Given the description of an element on the screen output the (x, y) to click on. 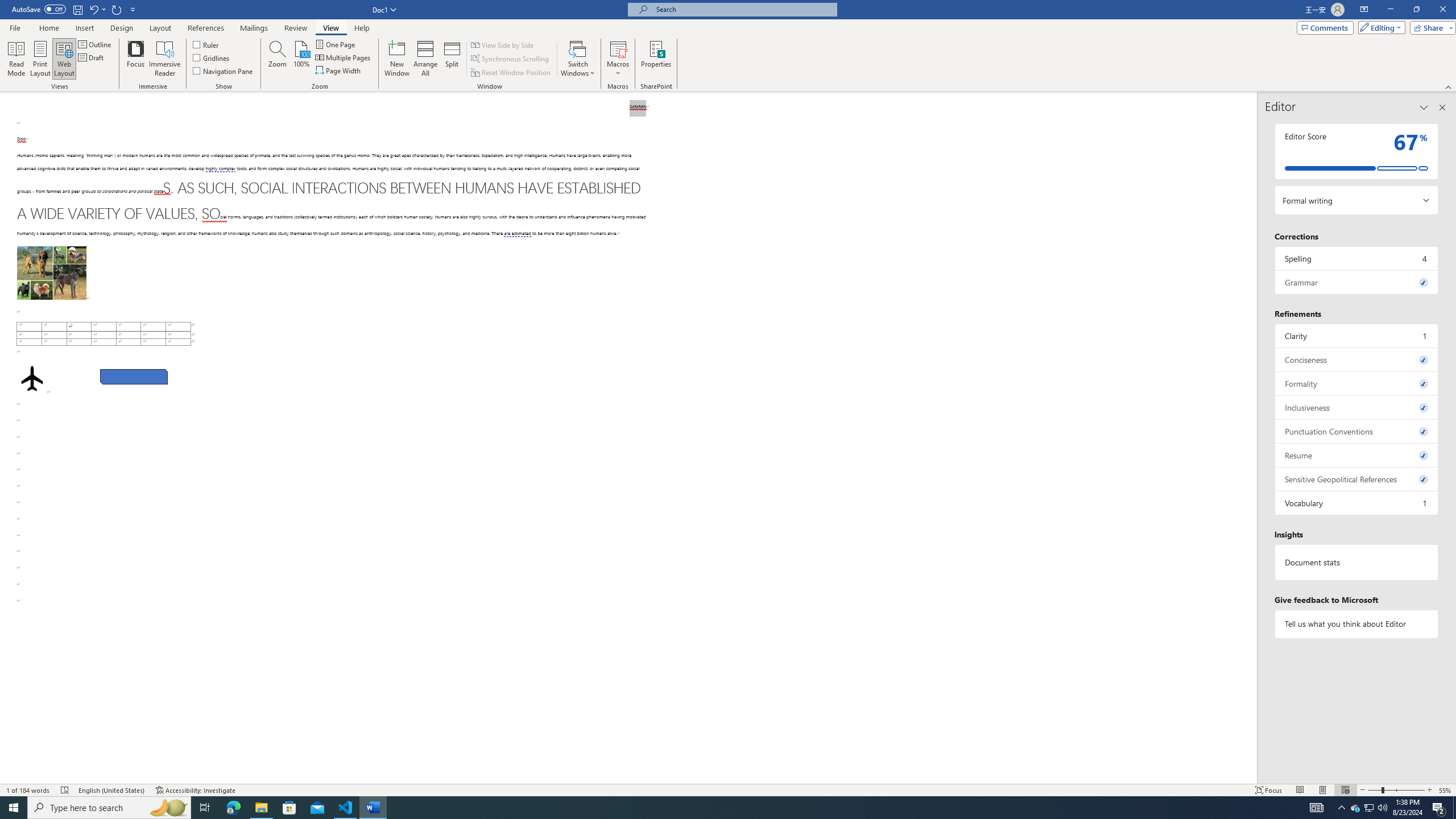
Gridlines (211, 56)
Document statistics (1356, 561)
Tell us what you think about Editor (1356, 624)
Conciseness, 0 issues. Press space or enter to review items. (1356, 359)
Split (451, 58)
Outline (95, 44)
